Given the description of an element on the screen output the (x, y) to click on. 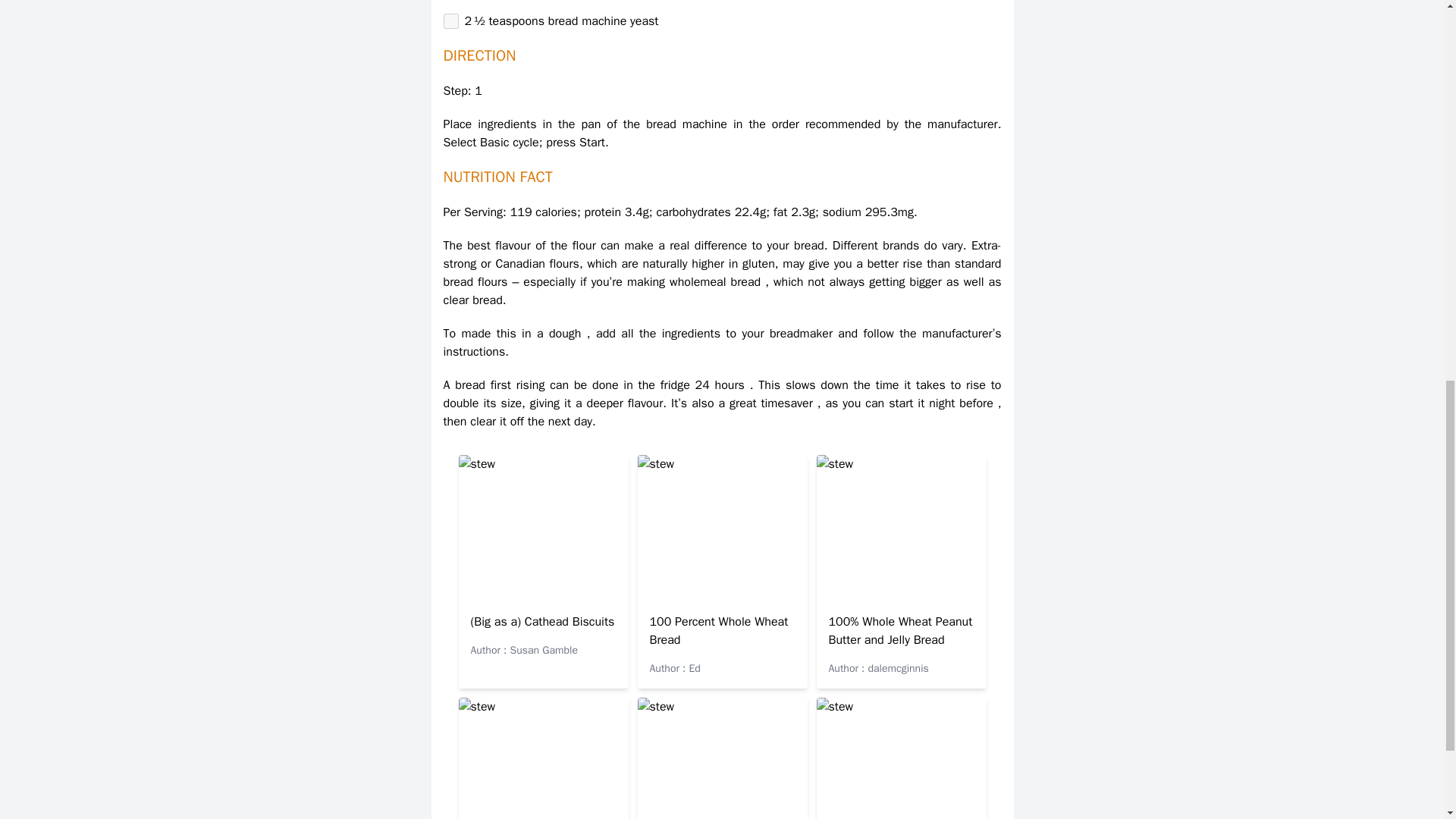
100 Percent Whole Wheat Bread (718, 630)
on (450, 20)
